Given the description of an element on the screen output the (x, y) to click on. 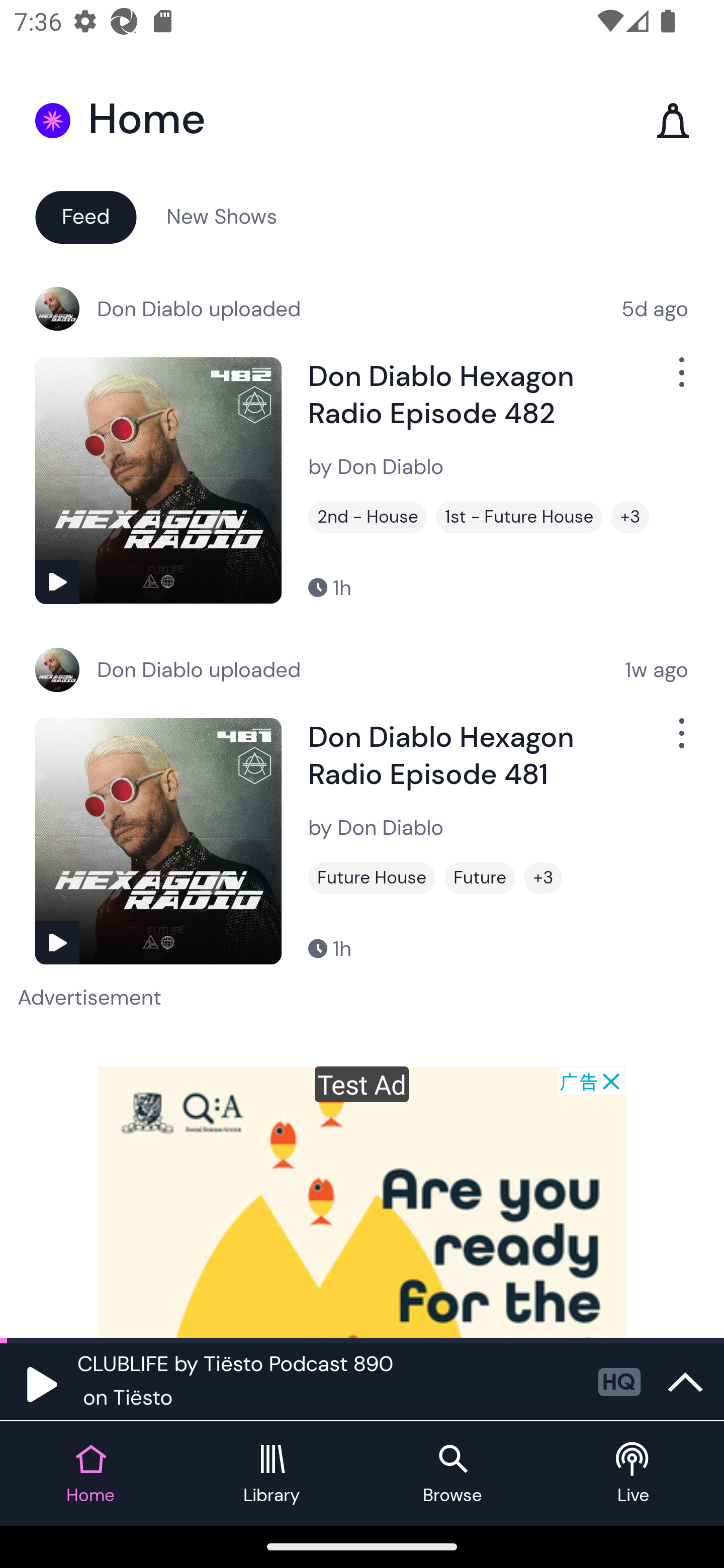
Feed (85, 216)
New Shows (221, 216)
Show Options Menu Button (679, 379)
2nd - House (367, 517)
1st - Future House (518, 517)
Show Options Menu Button (679, 740)
Future House (371, 877)
Future (479, 877)
Advertisement (361, 1201)
Home tab Home (90, 1473)
Library tab Library (271, 1473)
Browse tab Browse (452, 1473)
Live tab Live (633, 1473)
